Given the description of an element on the screen output the (x, y) to click on. 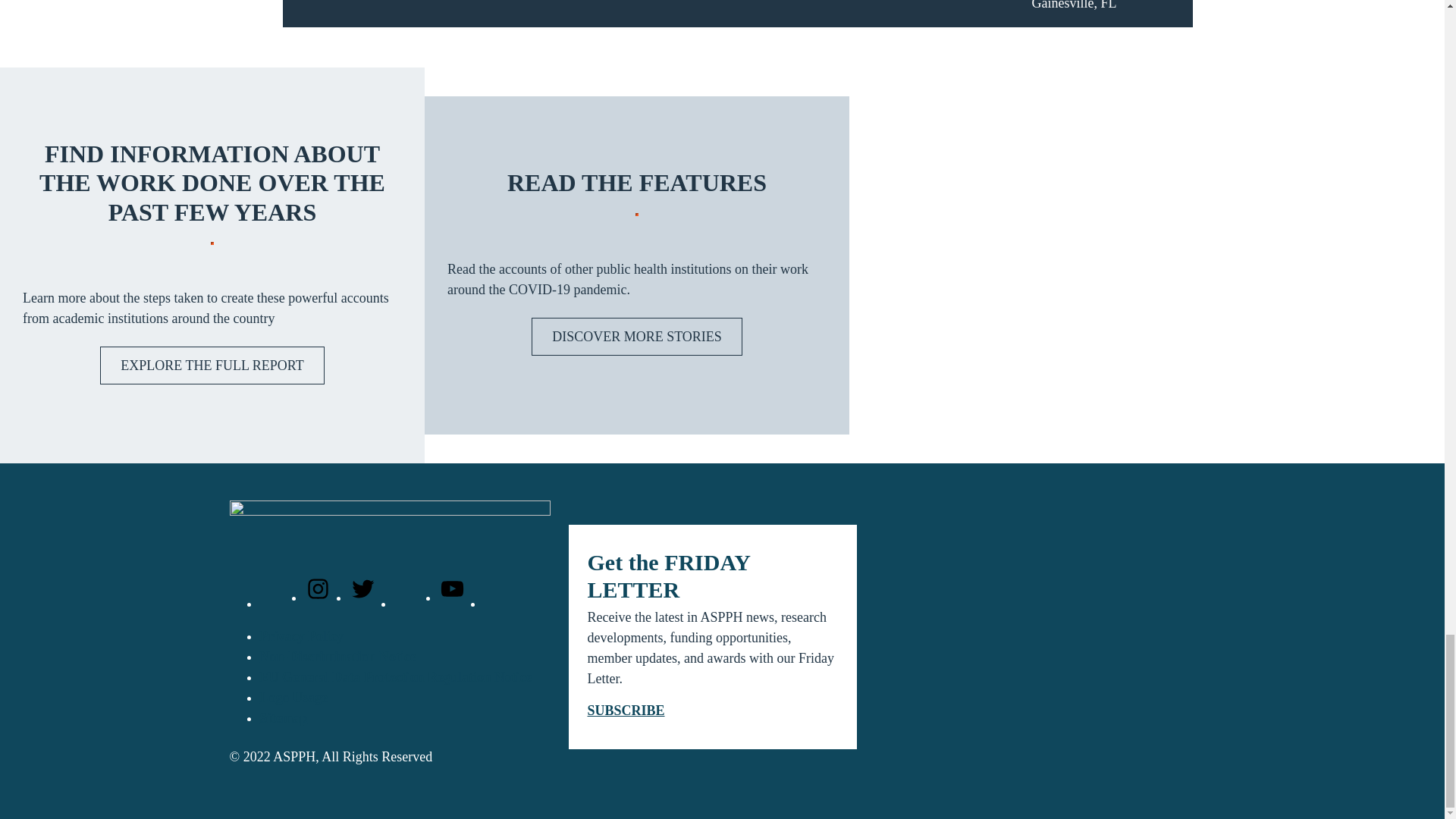
Logo Usage (293, 697)
Instagram (317, 597)
LinkedIn (407, 603)
YouTube (451, 597)
Sitemap (283, 717)
Privacy Policy (300, 635)
EU General Data Protection Regulation Notice (395, 676)
Flickr (497, 603)
Twitter (362, 597)
SUBSCRIBE (624, 710)
